Given the description of an element on the screen output the (x, y) to click on. 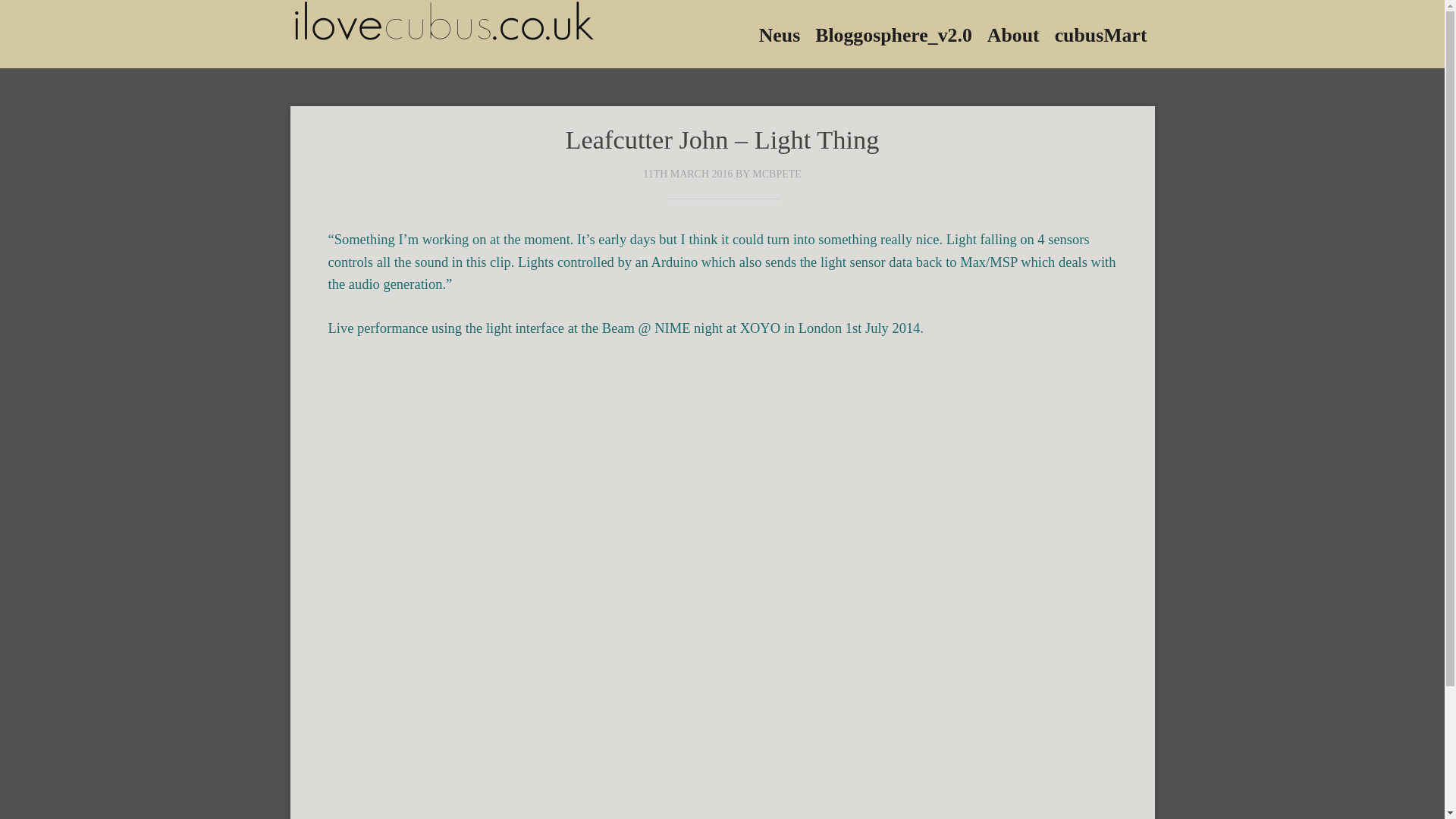
11TH MARCH 2016 (687, 173)
About (1012, 33)
cubusMart (1100, 33)
MCBPETE (776, 173)
